Given the description of an element on the screen output the (x, y) to click on. 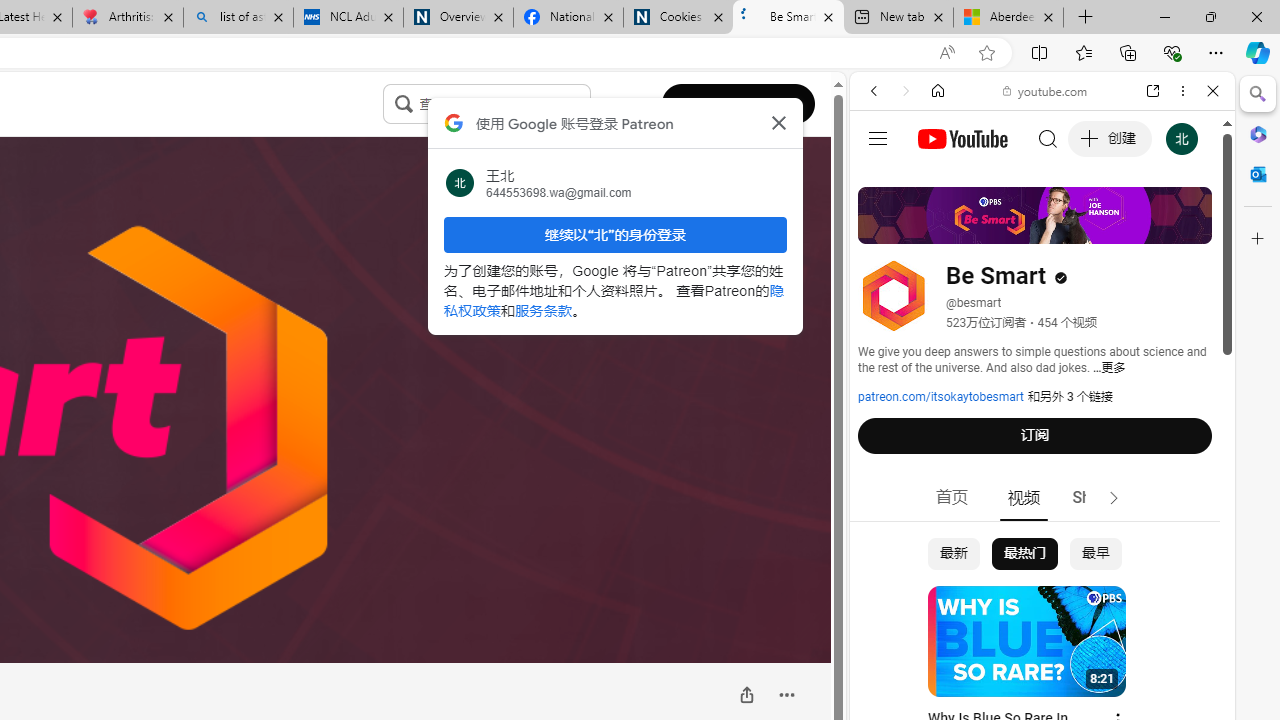
Class: style-scope tp-yt-iron-icon (1114, 498)
AutomationID: right (1113, 497)
Cookies | About | NICE (678, 17)
